Given the description of an element on the screen output the (x, y) to click on. 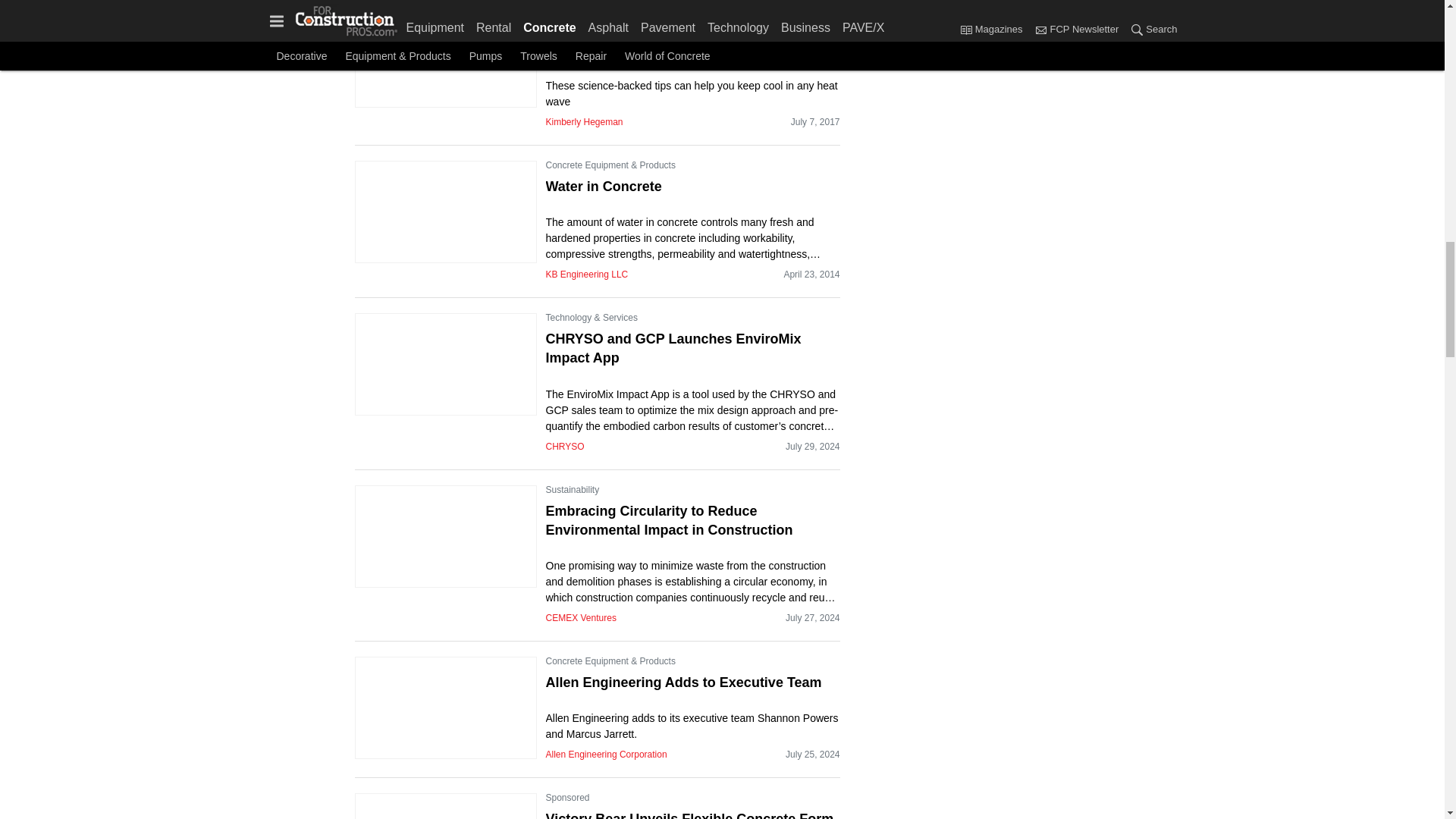
Instagram icon (955, 10)
LinkedIn icon (996, 10)
Twitter X icon (911, 10)
Facebook icon (870, 10)
YouTube icon (1037, 10)
Flipboard icon (870, 35)
